Given the description of an element on the screen output the (x, y) to click on. 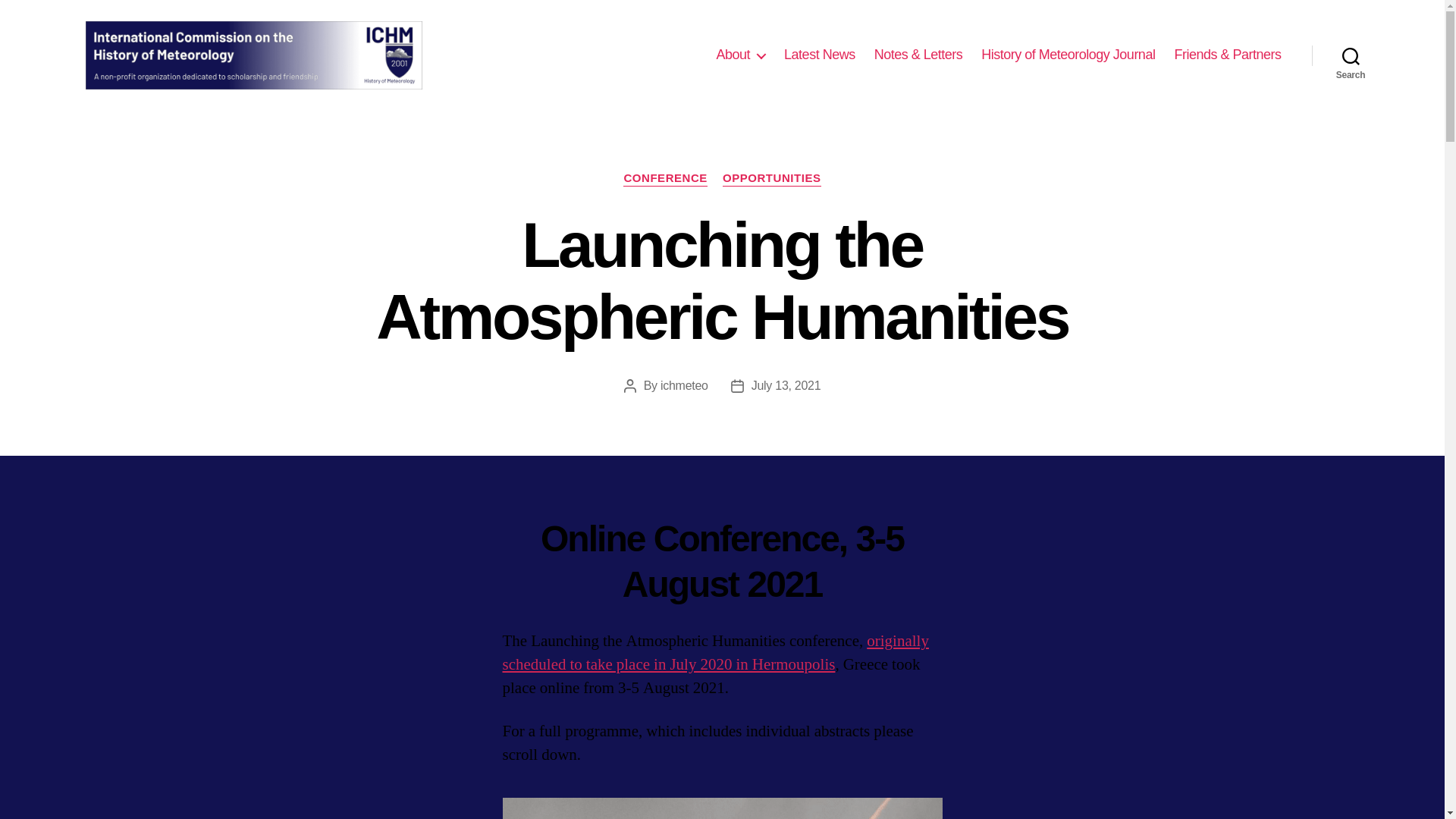
History of Meteorology Journal (1067, 54)
Latest News (820, 54)
Search (1350, 55)
ichmeteo (684, 385)
OPPORTUNITIES (771, 178)
About (740, 54)
July 13, 2021 (786, 385)
CONFERENCE (665, 178)
